Given the description of an element on the screen output the (x, y) to click on. 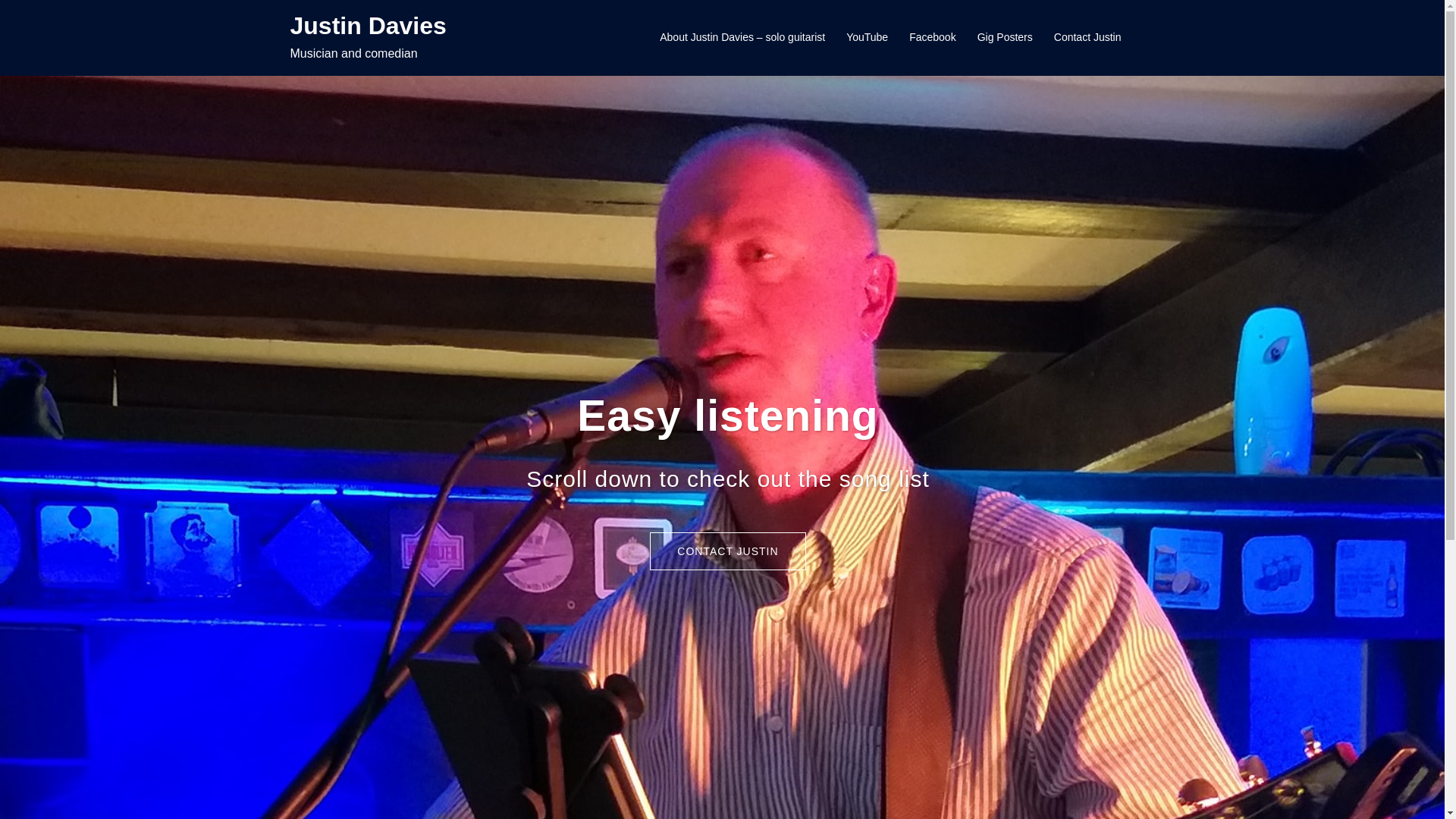
Search Element type: text (49, 18)
Facebook Element type: text (932, 37)
CONTACT JUSTIN Element type: text (727, 551)
YouTube Element type: text (867, 37)
Gig Posters Element type: text (1004, 37)
Justin Davies Element type: text (367, 25)
Contact Justin Element type: text (1087, 37)
